Given the description of an element on the screen output the (x, y) to click on. 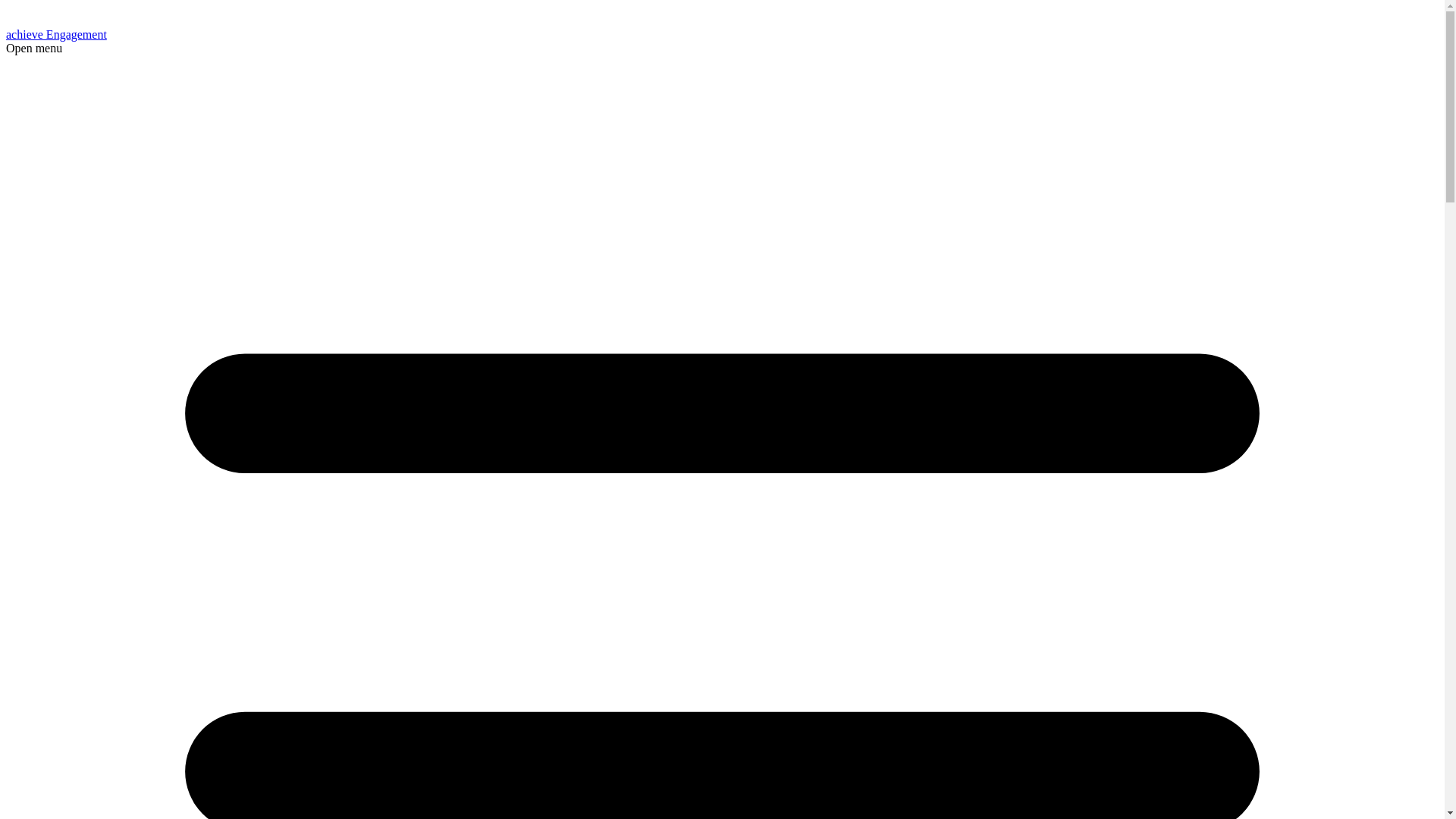
achieve Engagement (94, 33)
